Given the description of an element on the screen output the (x, y) to click on. 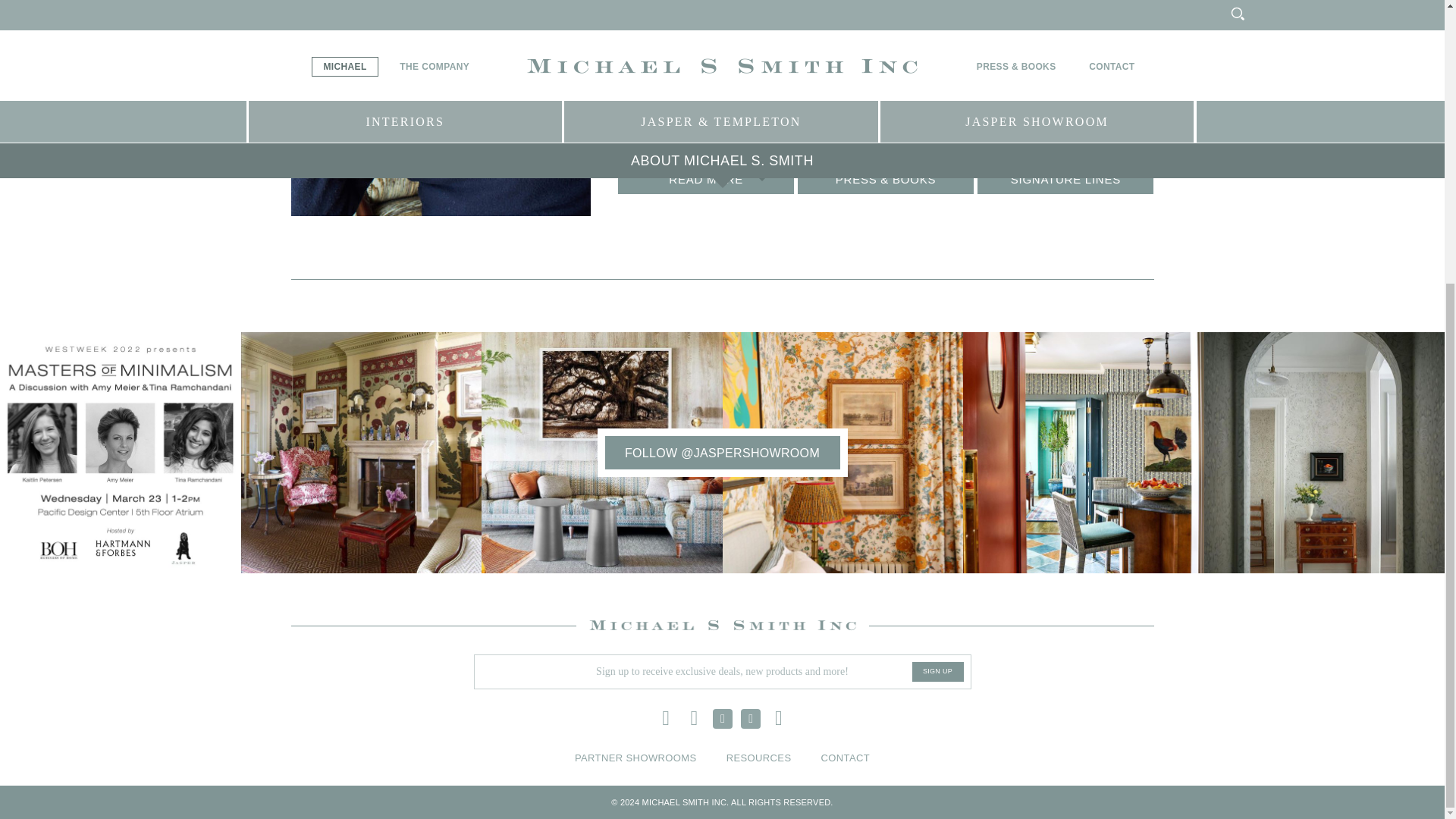
READ MORE (705, 178)
SIGNATURE LINES (1064, 178)
